Given the description of an element on the screen output the (x, y) to click on. 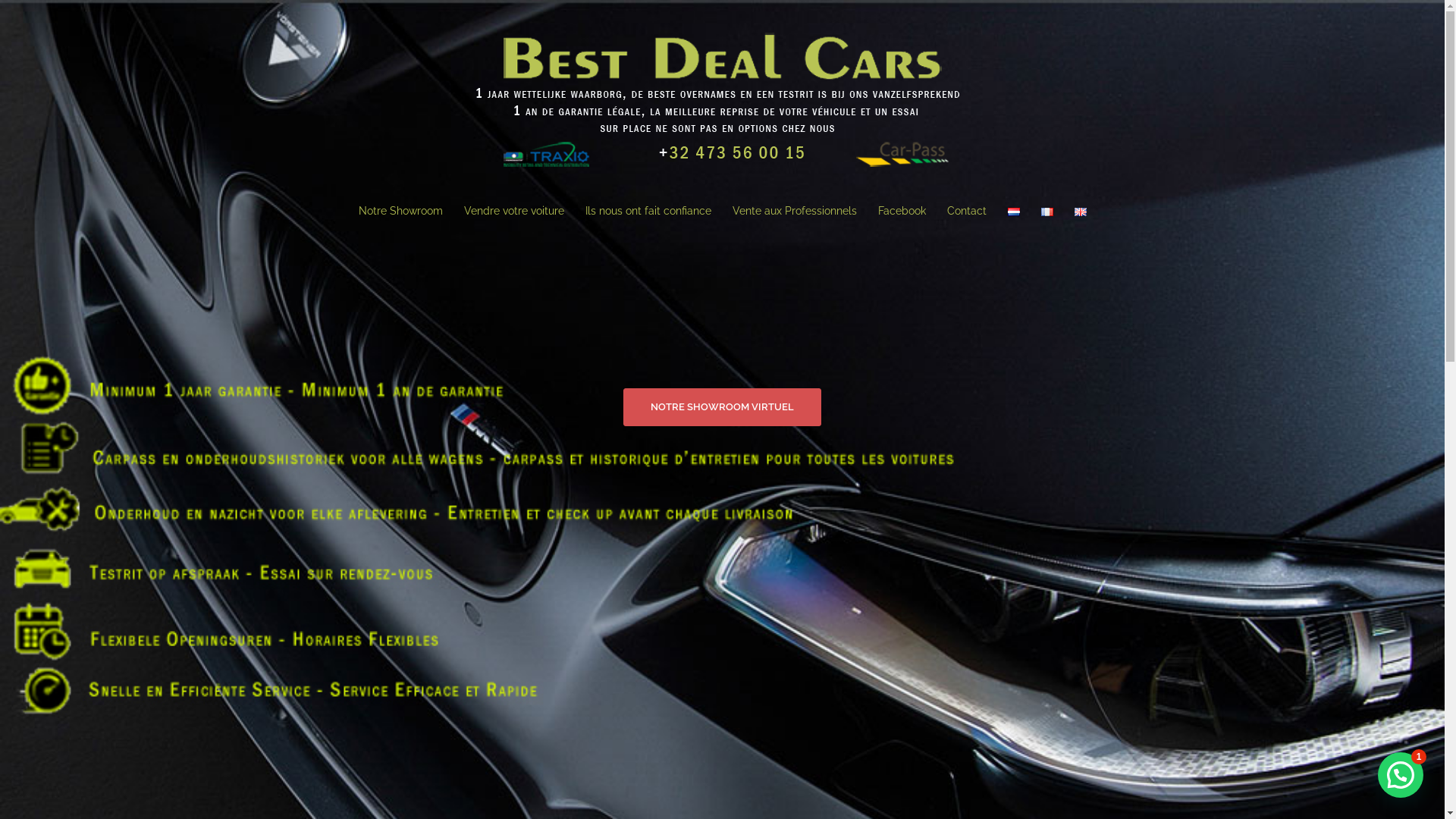
NOTRE SHOWROOM VIRTUEL Element type: text (722, 407)
Facebook Element type: text (901, 211)
English Element type: hover (1079, 211)
Nederlands Element type: hover (1013, 211)
Vendre votre voiture Element type: text (514, 211)
Vente aux Professionnels Element type: text (794, 211)
Notre Showroom Element type: text (399, 211)
Ils nous ont fait confiance Element type: text (648, 211)
Best Deal Cars Element type: hover (722, 101)
Contact Element type: text (965, 211)
